Given the description of an element on the screen output the (x, y) to click on. 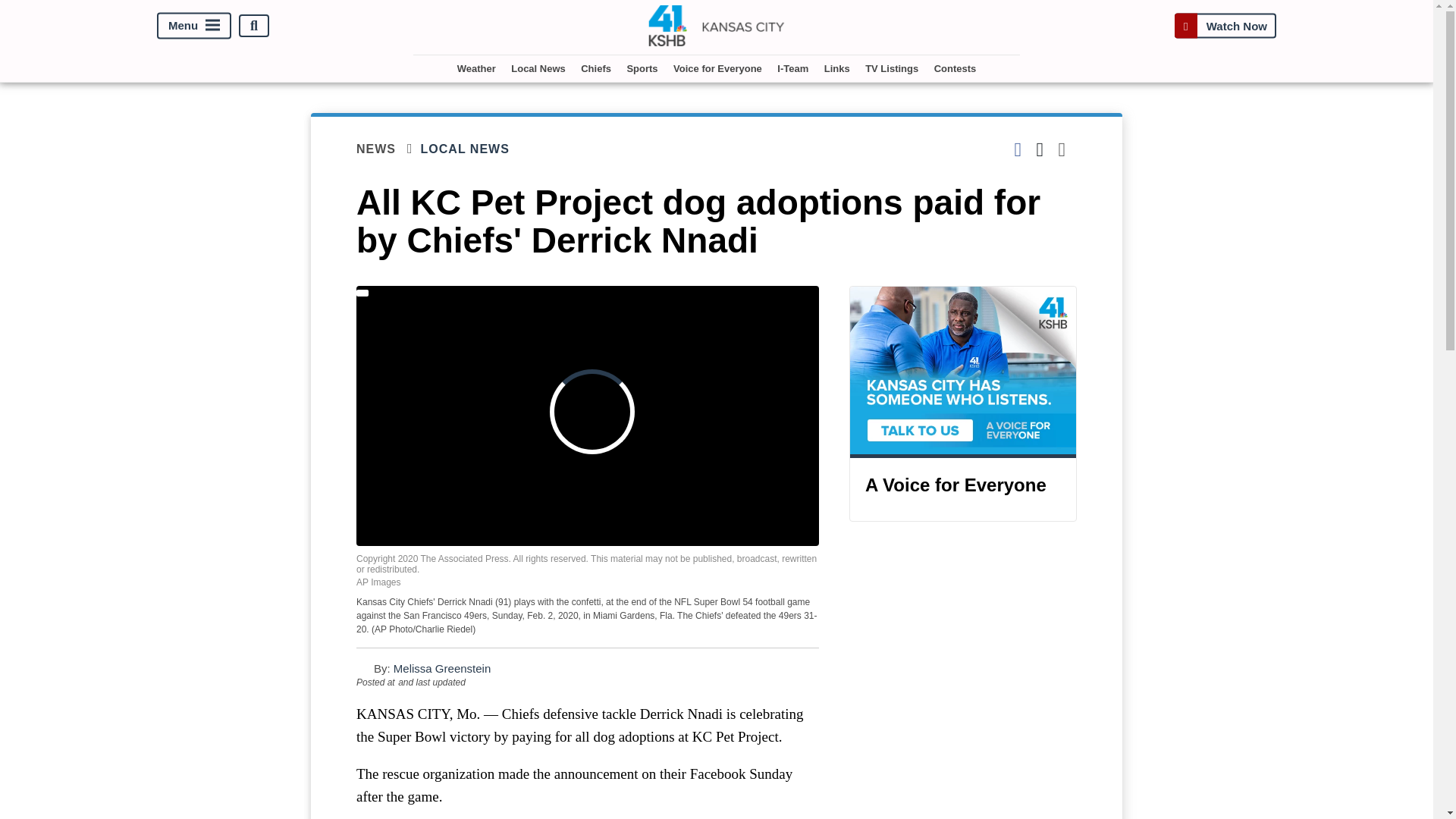
Menu (194, 26)
Watch Now (1224, 25)
